Given the description of an element on the screen output the (x, y) to click on. 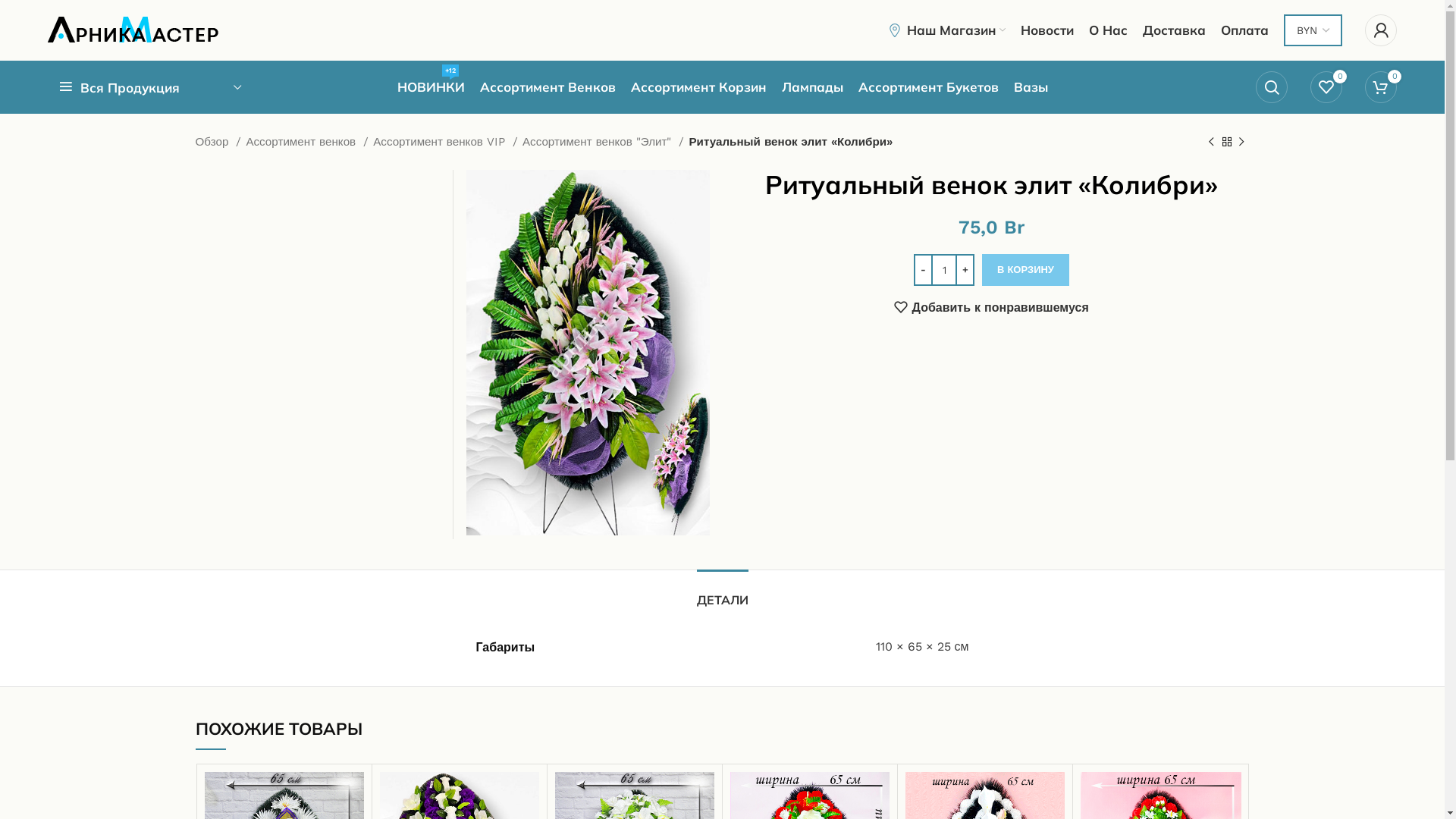
0 Element type: text (1325, 87)
0 Element type: text (1380, 87)
location-watch Element type: hover (894, 30)
Qty Element type: hover (943, 269)
